Given the description of an element on the screen output the (x, y) to click on. 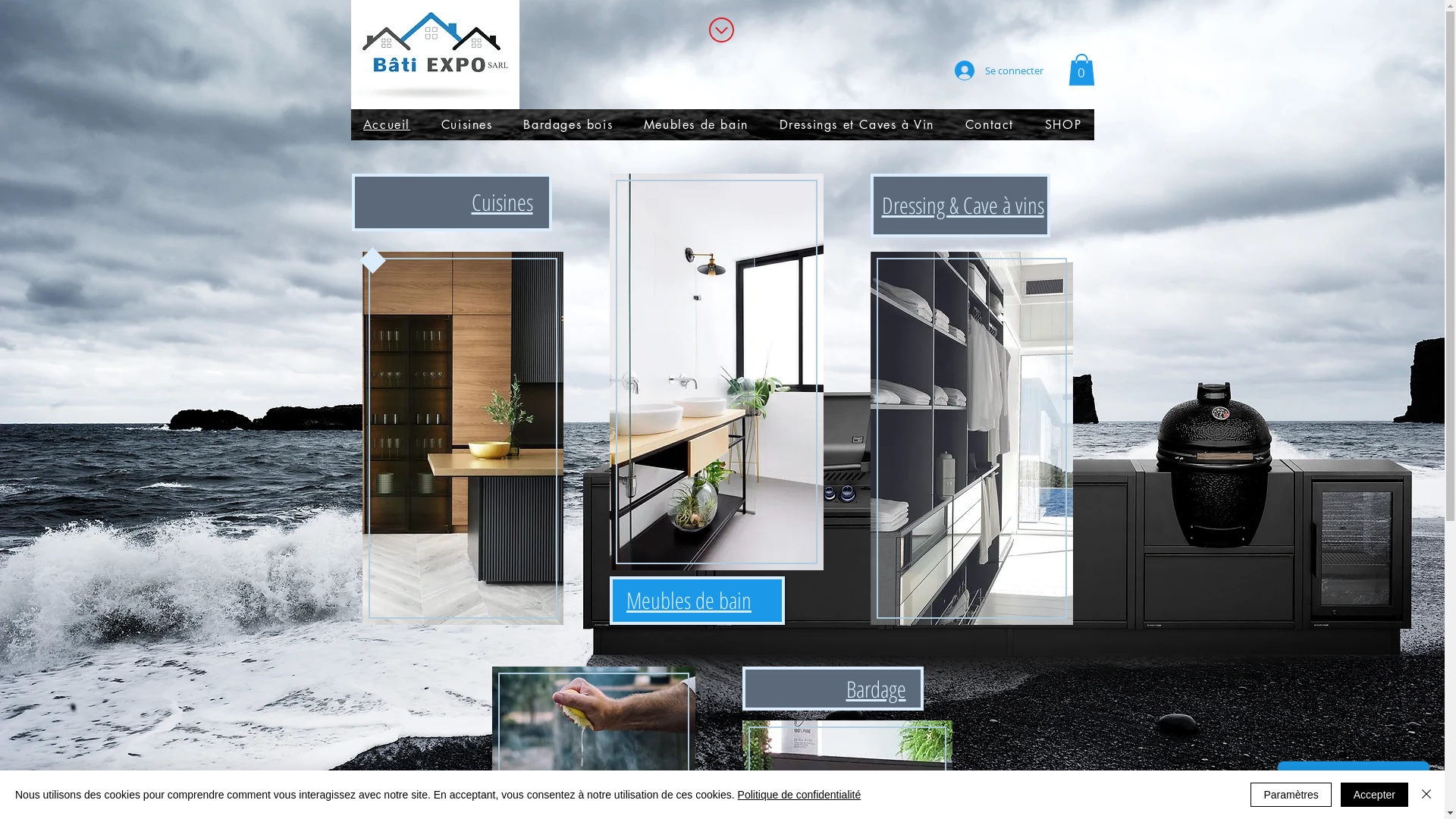
Cuisines Element type: text (502, 201)
Se connecter Element type: text (998, 70)
Bardages bois Element type: text (568, 124)
SHOP Element type: text (1062, 124)
0 Element type: text (1080, 69)
Meubles de bain Element type: text (688, 599)
Accepter Element type: text (1374, 794)
ACCEUIL SHOP Element type: text (722, 127)
Cuisines Element type: text (466, 124)
Accueil Element type: text (386, 124)
Meubles de bain Element type: text (696, 124)
Bardage Element type: text (876, 688)
Contact Element type: text (989, 124)
